Given the description of an element on the screen output the (x, y) to click on. 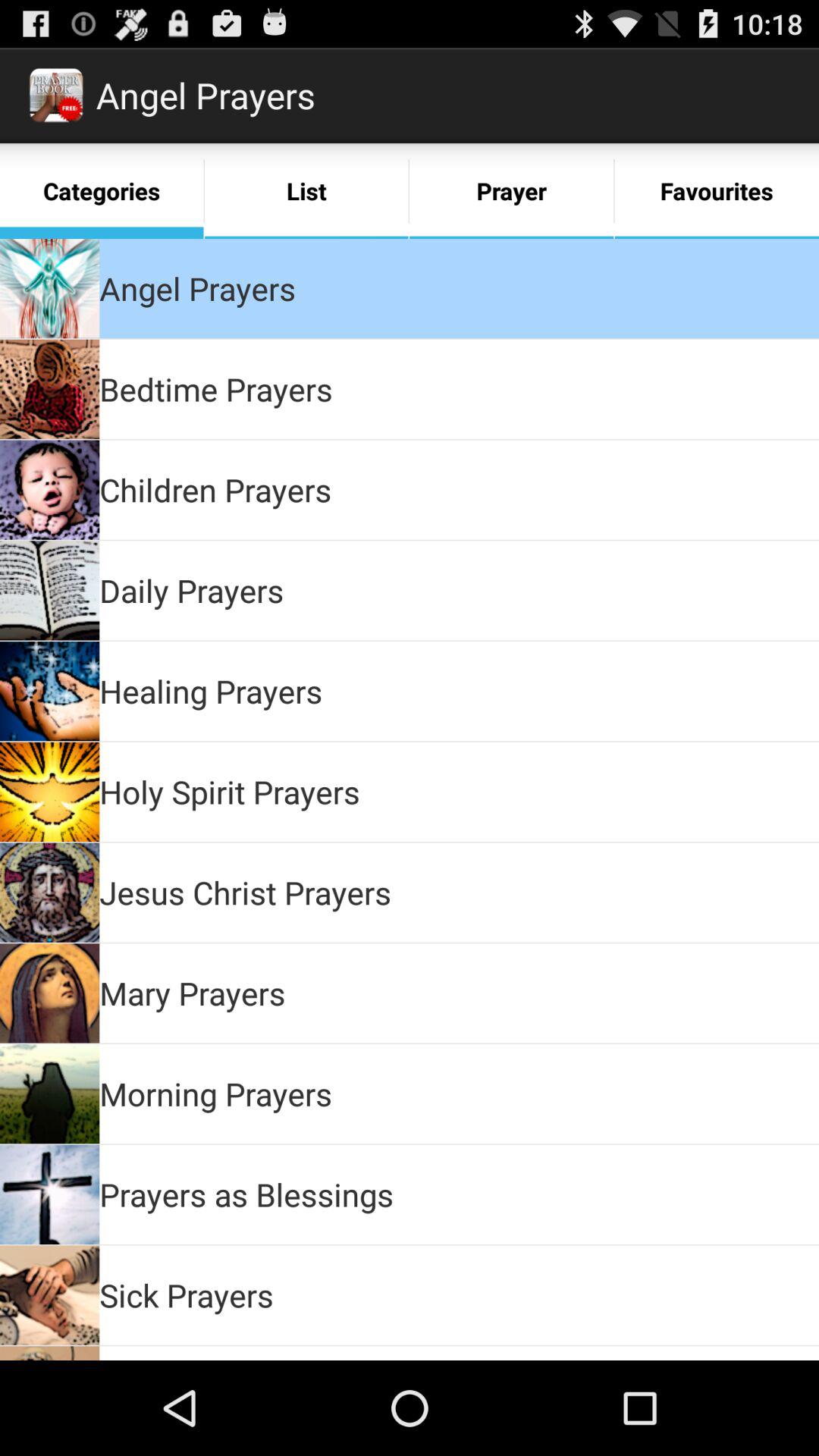
select children prayers (215, 489)
